Given the description of an element on the screen output the (x, y) to click on. 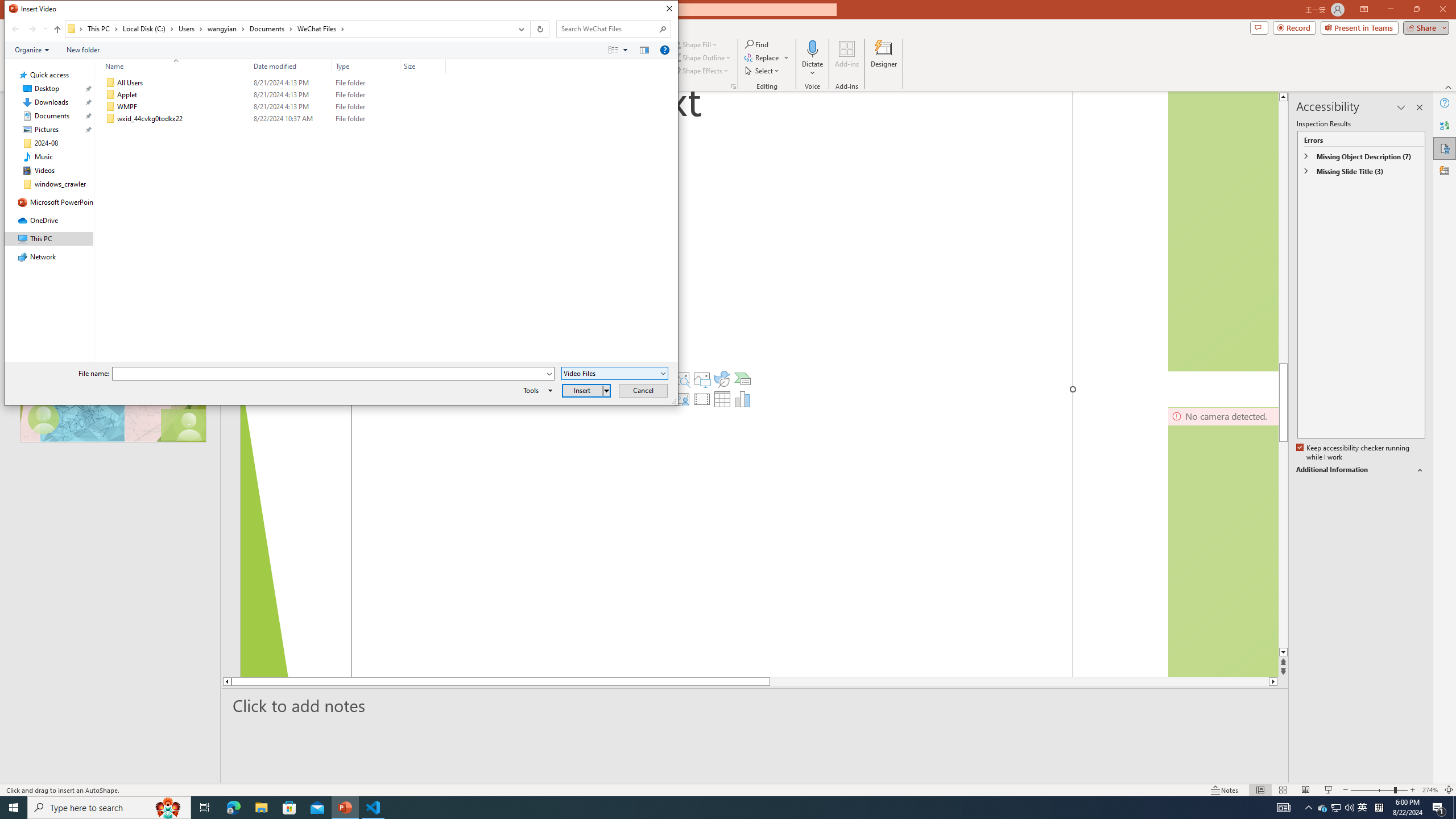
Type (365, 65)
Command Module (341, 49)
Applet (273, 94)
Navigation buttons (28, 28)
